Given the description of an element on the screen output the (x, y) to click on. 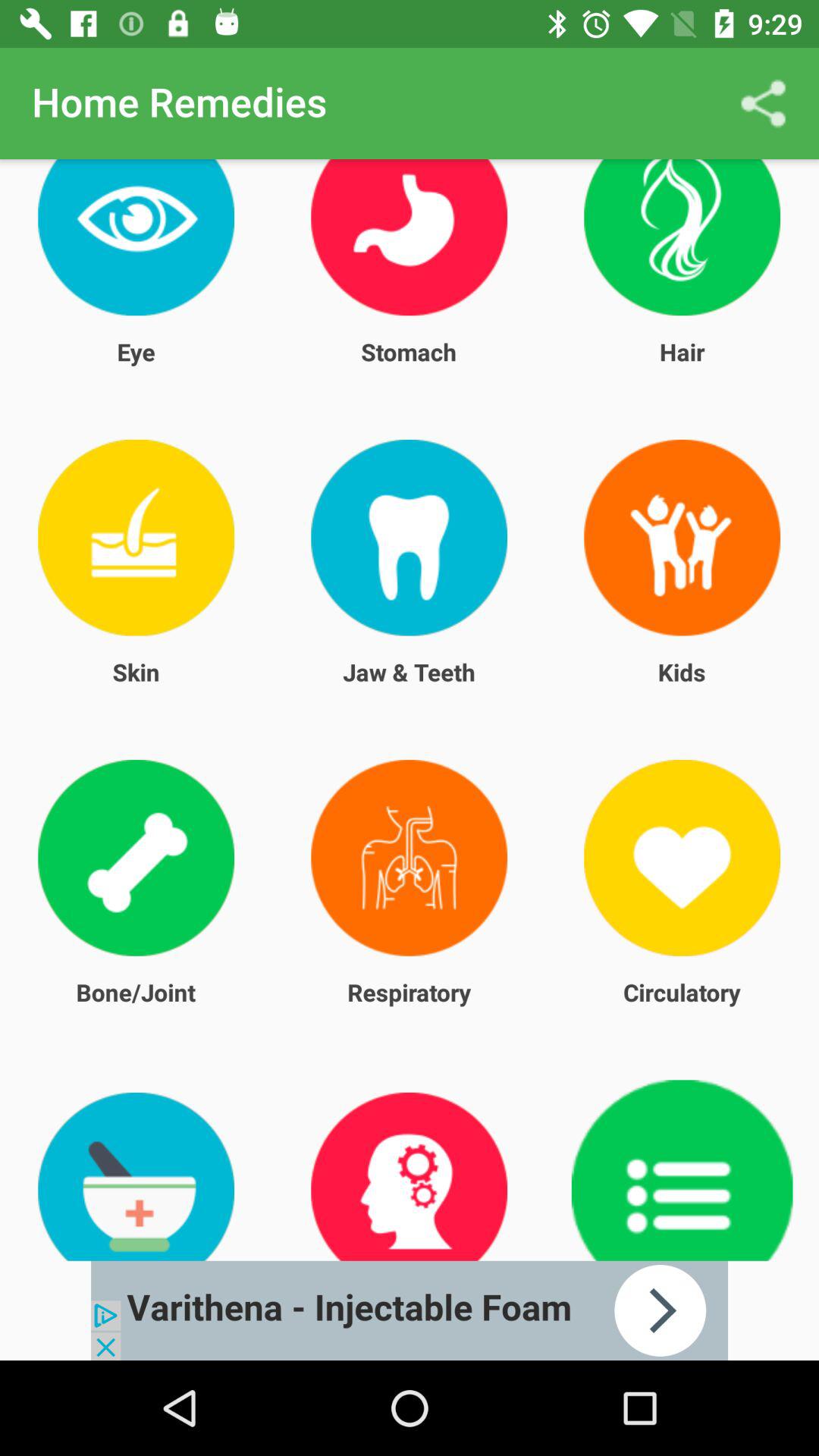
advertisement link (409, 1310)
